Given the description of an element on the screen output the (x, y) to click on. 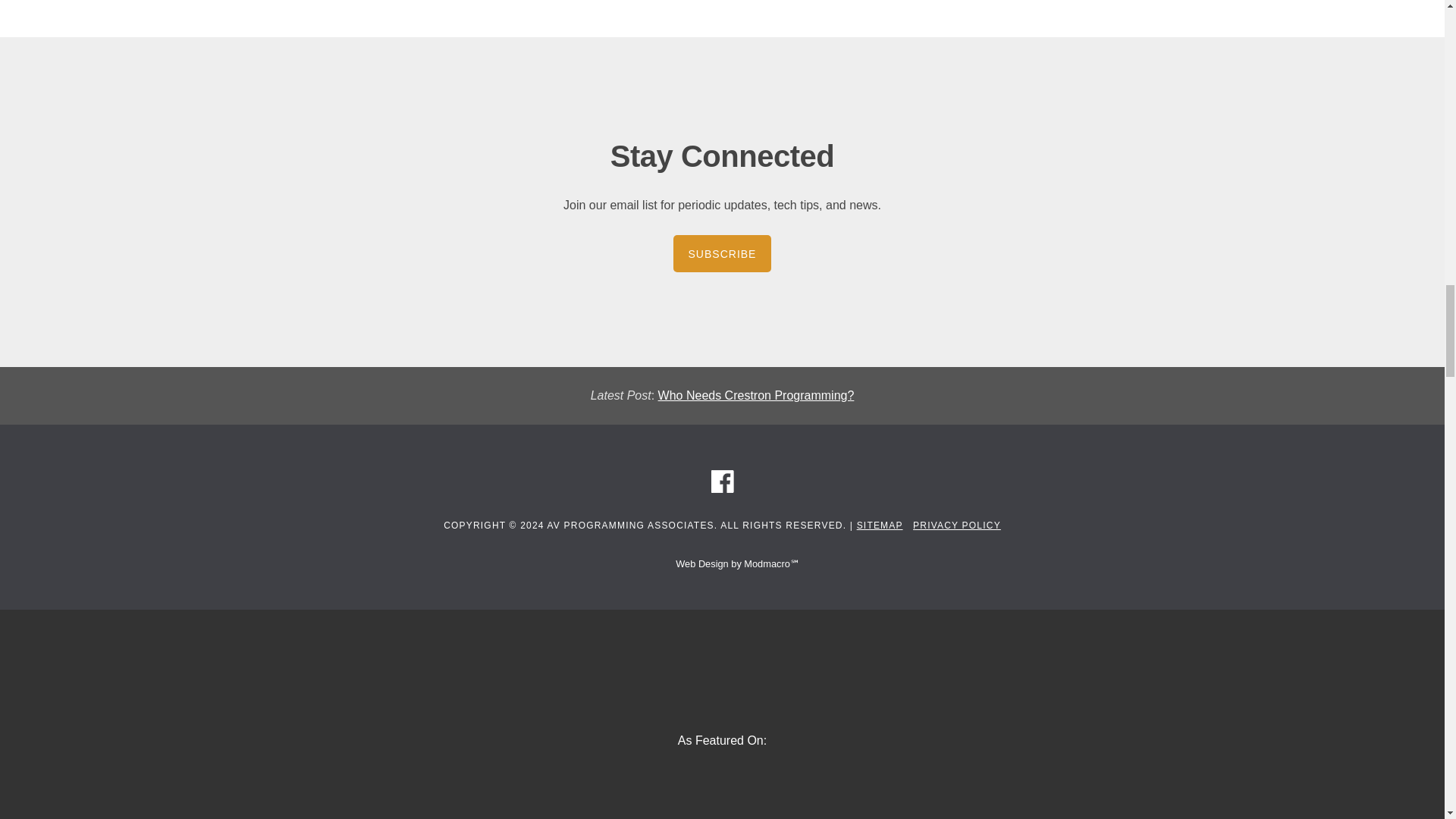
SUBSCRIBE (721, 253)
SUBSCRIBE (721, 253)
Web Design by Modmacro (722, 563)
